Given the description of an element on the screen output the (x, y) to click on. 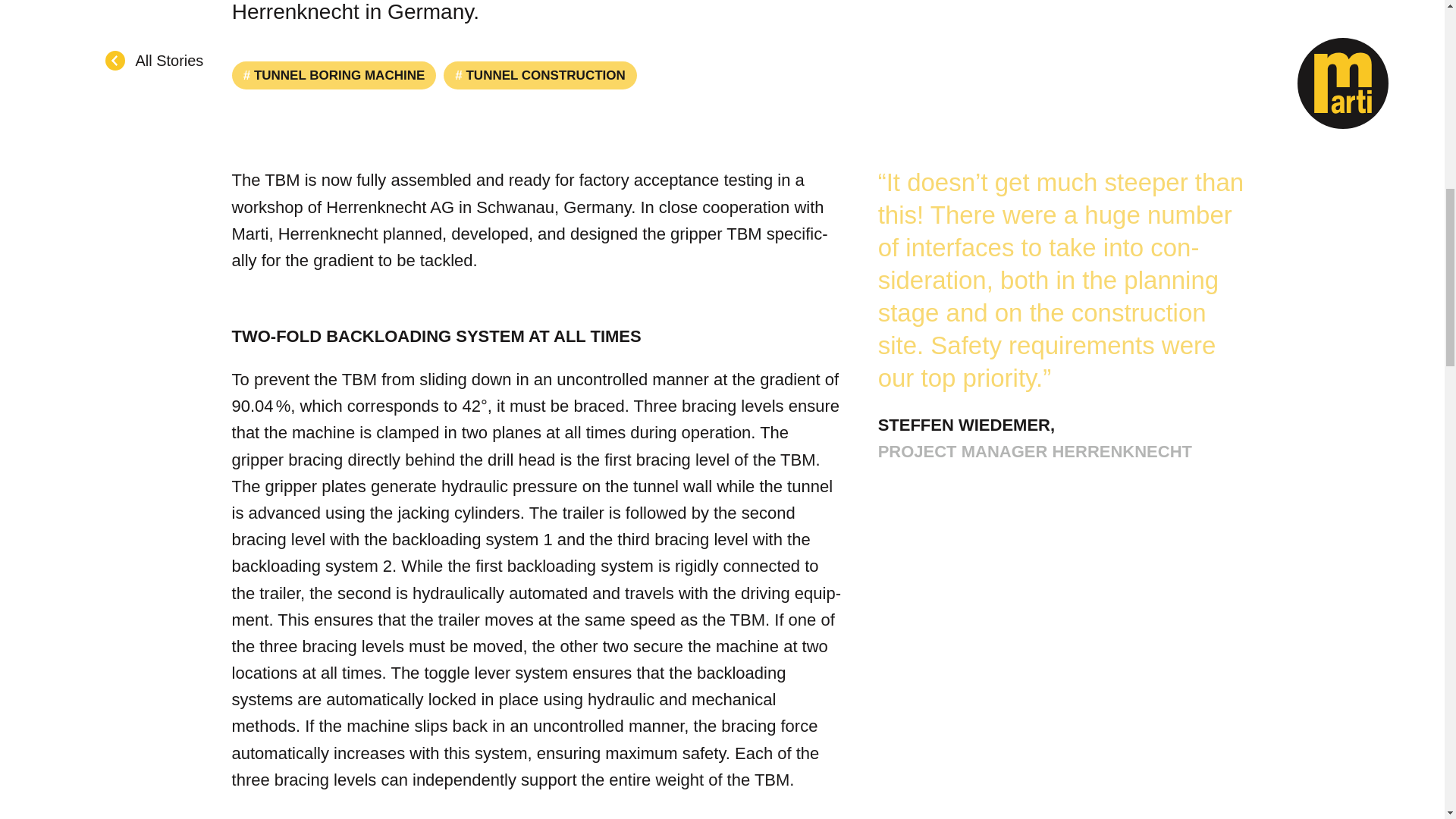
TUNNEL CONSTRUCTION (540, 75)
TUNNEL BORING MACHINE (333, 75)
